Given the description of an element on the screen output the (x, y) to click on. 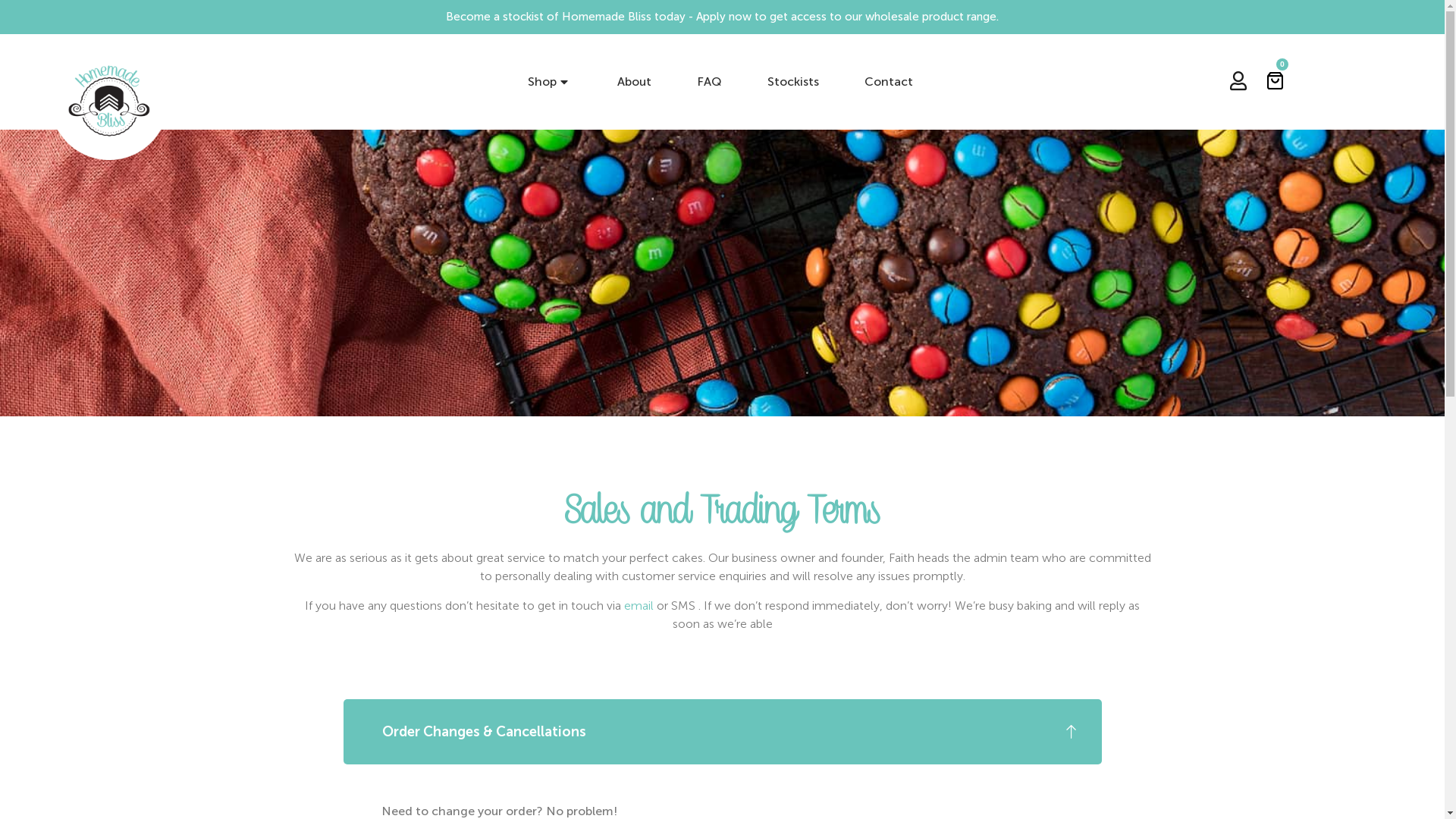
Contact Element type: text (888, 81)
Shop Element type: text (549, 81)
FAQ Element type: text (709, 81)
Stockists Element type: text (792, 81)
About Element type: text (633, 81)
0 Element type: text (1275, 78)
Order Changes & Cancellations Element type: text (721, 731)
email Element type: text (638, 605)
